Given the description of an element on the screen output the (x, y) to click on. 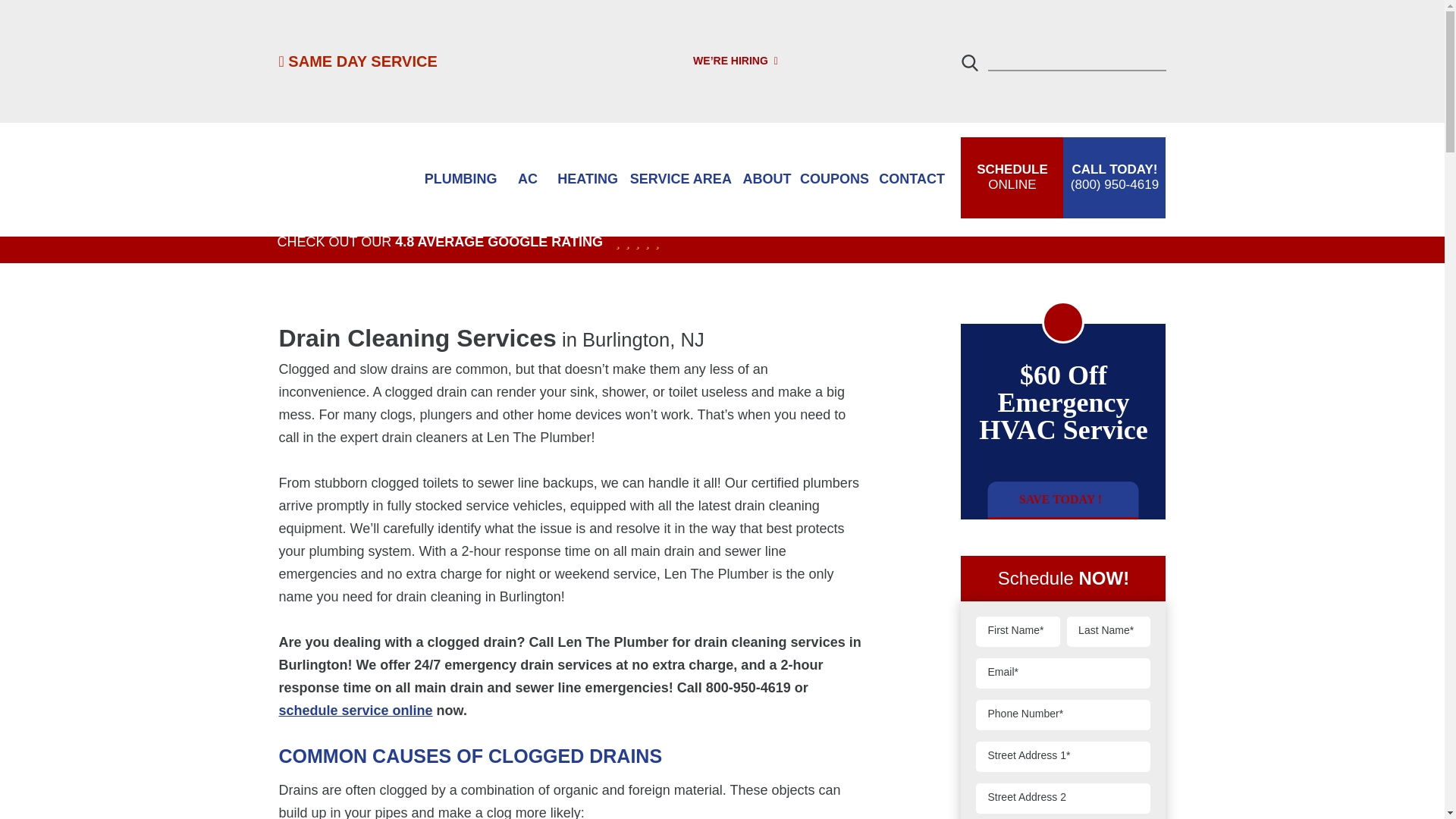
Len The Plumber (343, 178)
Same Day Service  (358, 61)
Read our reviews (440, 242)
Read our reviews (631, 242)
PLUMBING (358, 61)
Save Today ! (460, 179)
